Given the description of an element on the screen output the (x, y) to click on. 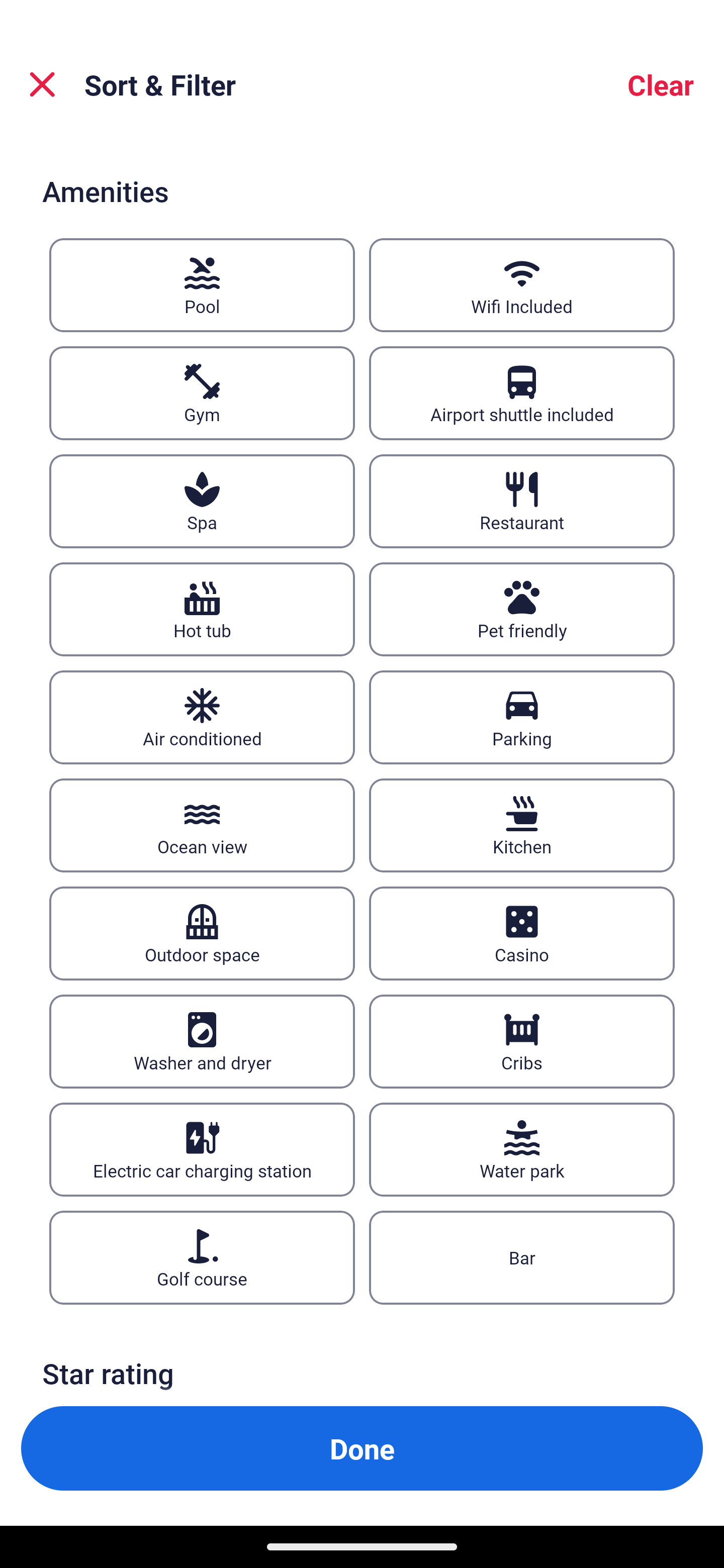
Close Sort and Filter (42, 84)
Clear (660, 84)
Pool (201, 285)
Wifi Included (521, 285)
Gym (201, 393)
Airport shuttle included (521, 393)
Spa (201, 501)
Restaurant (521, 501)
Hot tub (201, 609)
Pet friendly (521, 609)
Air conditioned (201, 718)
Parking (521, 718)
Ocean view (201, 824)
Kitchen (521, 824)
Outdoor space (201, 932)
Casino (521, 932)
Washer and dryer (201, 1041)
Cribs (521, 1041)
Electric car charging station (201, 1149)
Water park (521, 1149)
Golf course (201, 1257)
Bar (521, 1257)
Apply and close Sort and Filter Done (361, 1448)
